Given the description of an element on the screen output the (x, y) to click on. 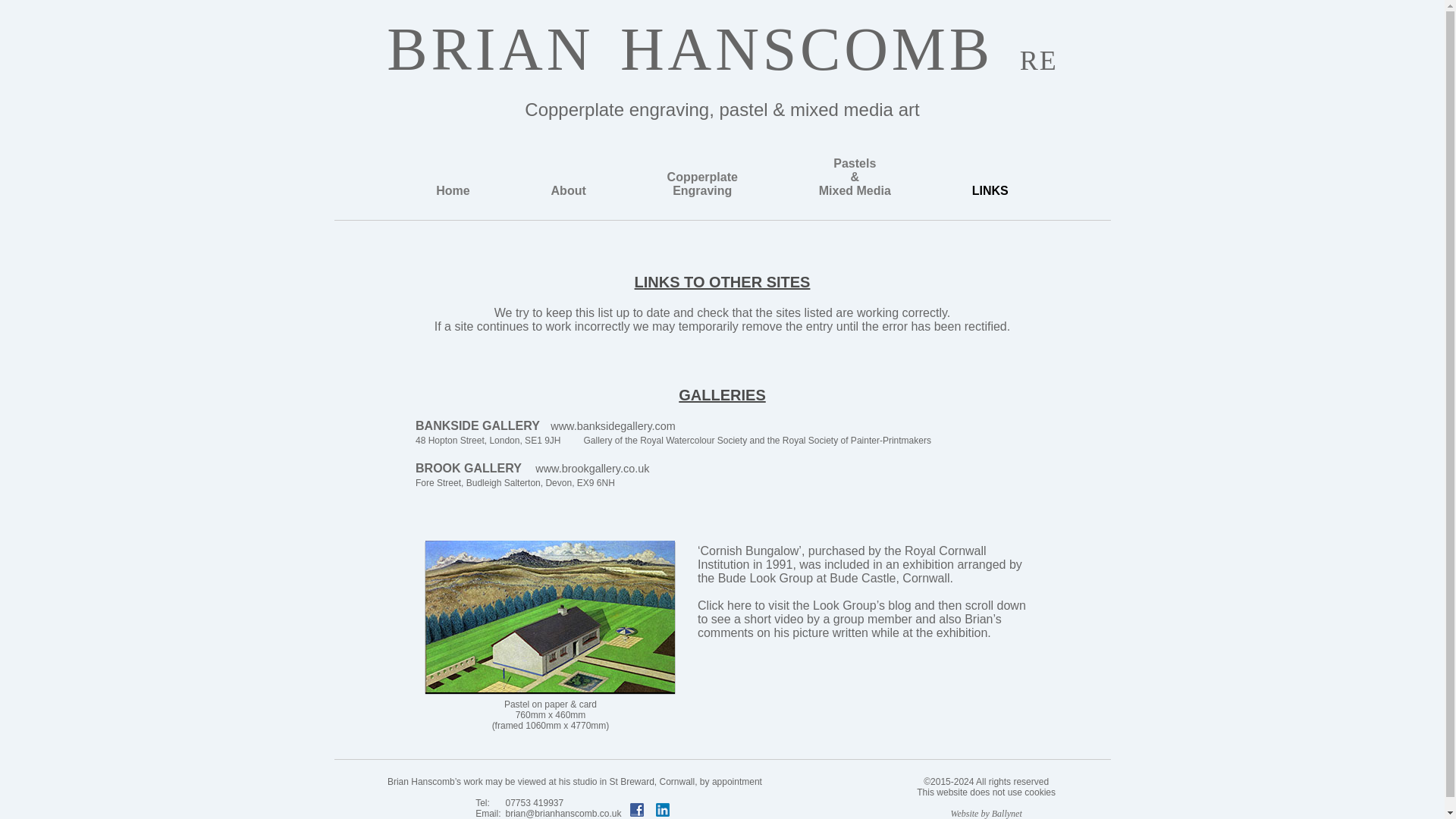
Visit Bankside Gallery website (544, 425)
Bude Look Group's blog (724, 604)
Click here (724, 604)
BROOK GALLERY www.brookgallery.co.uk (531, 468)
LINKS (990, 190)
Home (702, 183)
Visit Brook Gallery website (451, 190)
BANKSIDE GALLERYwww.banksidegallery.com (531, 468)
About (544, 425)
